Given the description of an element on the screen output the (x, y) to click on. 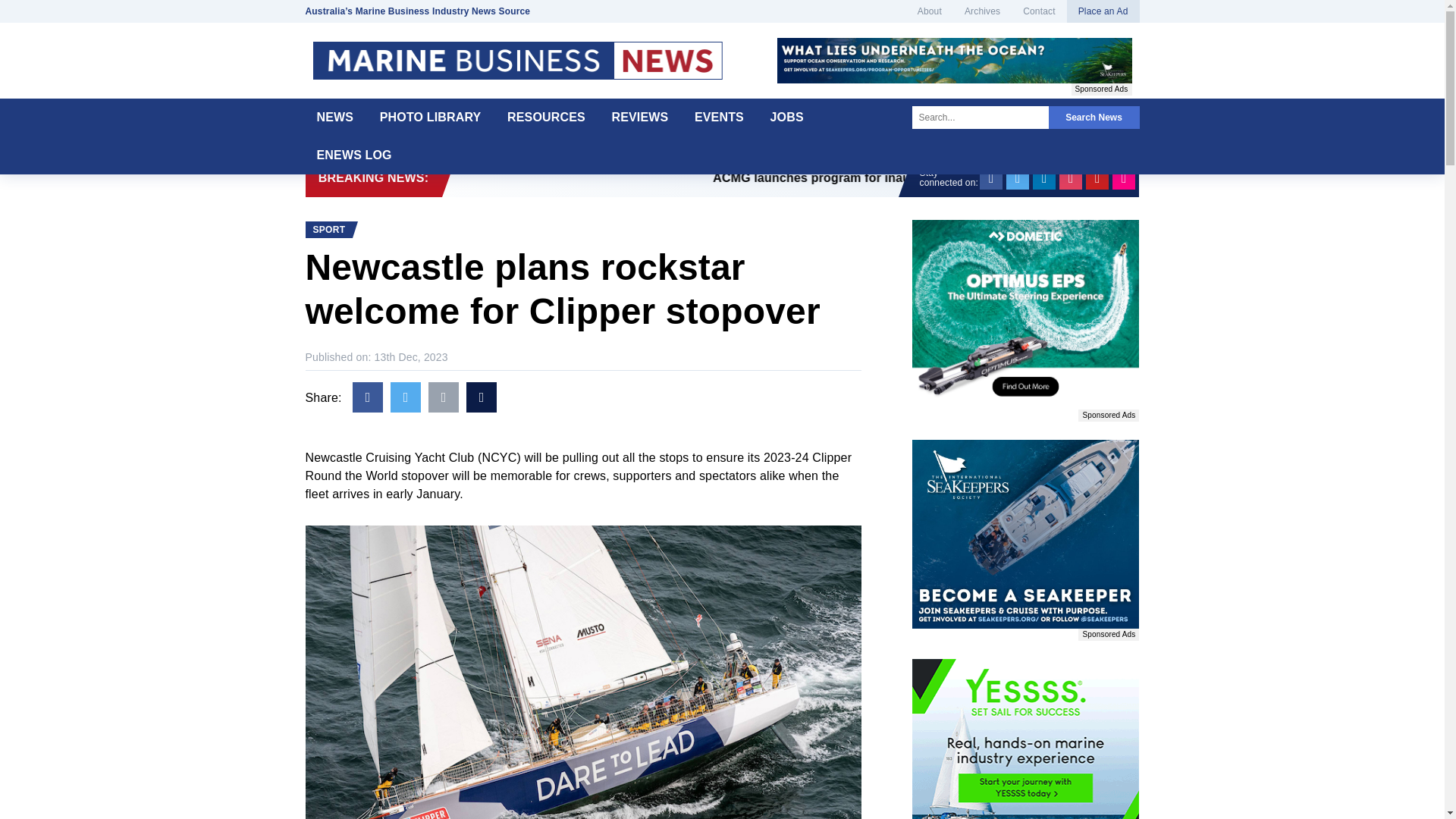
EVENTS (718, 117)
NEWS (334, 117)
Print (480, 397)
ENEWS LOG (353, 155)
Share with Email (443, 397)
Place an Ad (1103, 11)
REVIEWS (639, 117)
Share on Twitter (405, 397)
Search News (1093, 117)
Archives (982, 11)
JOBS (786, 117)
PHOTO LIBRARY (430, 117)
Share on Facebook (367, 397)
About (929, 11)
